Given the description of an element on the screen output the (x, y) to click on. 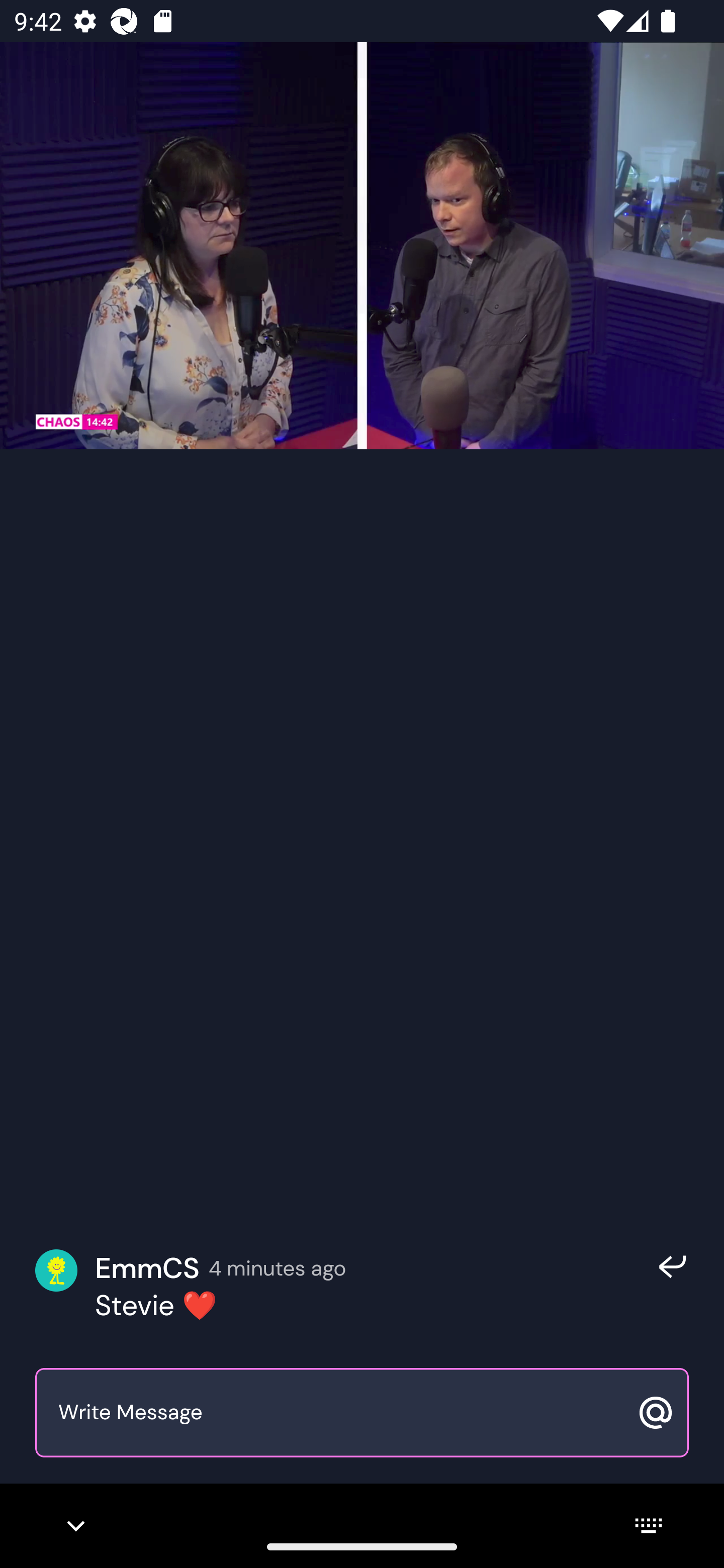
EmmCS (146, 1268)
Write Message (340, 1413)
